Given the description of an element on the screen output the (x, y) to click on. 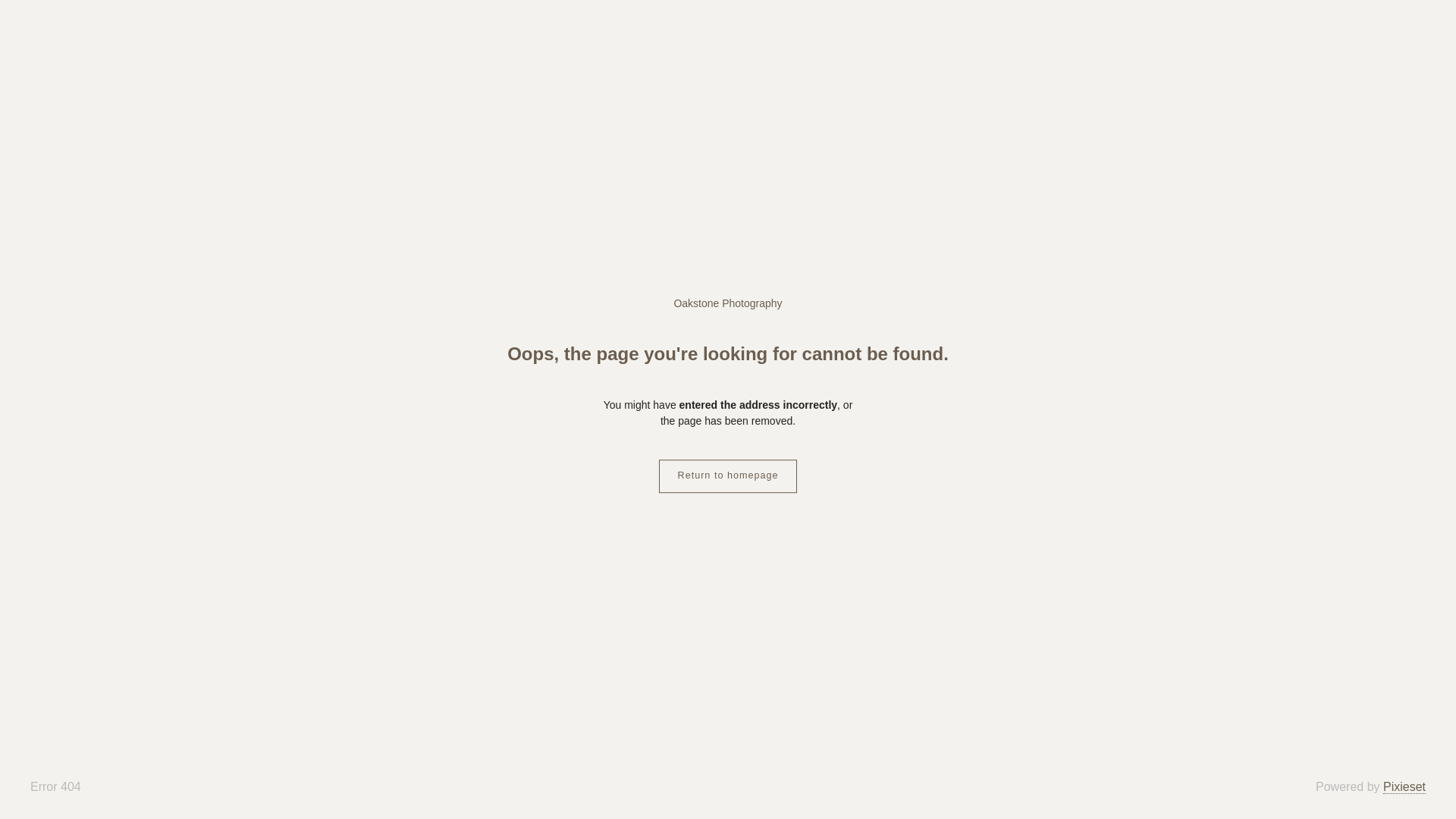
Return to homepage Element type: text (727, 475)
Pixieset Element type: text (1404, 786)
